Given the description of an element on the screen output the (x, y) to click on. 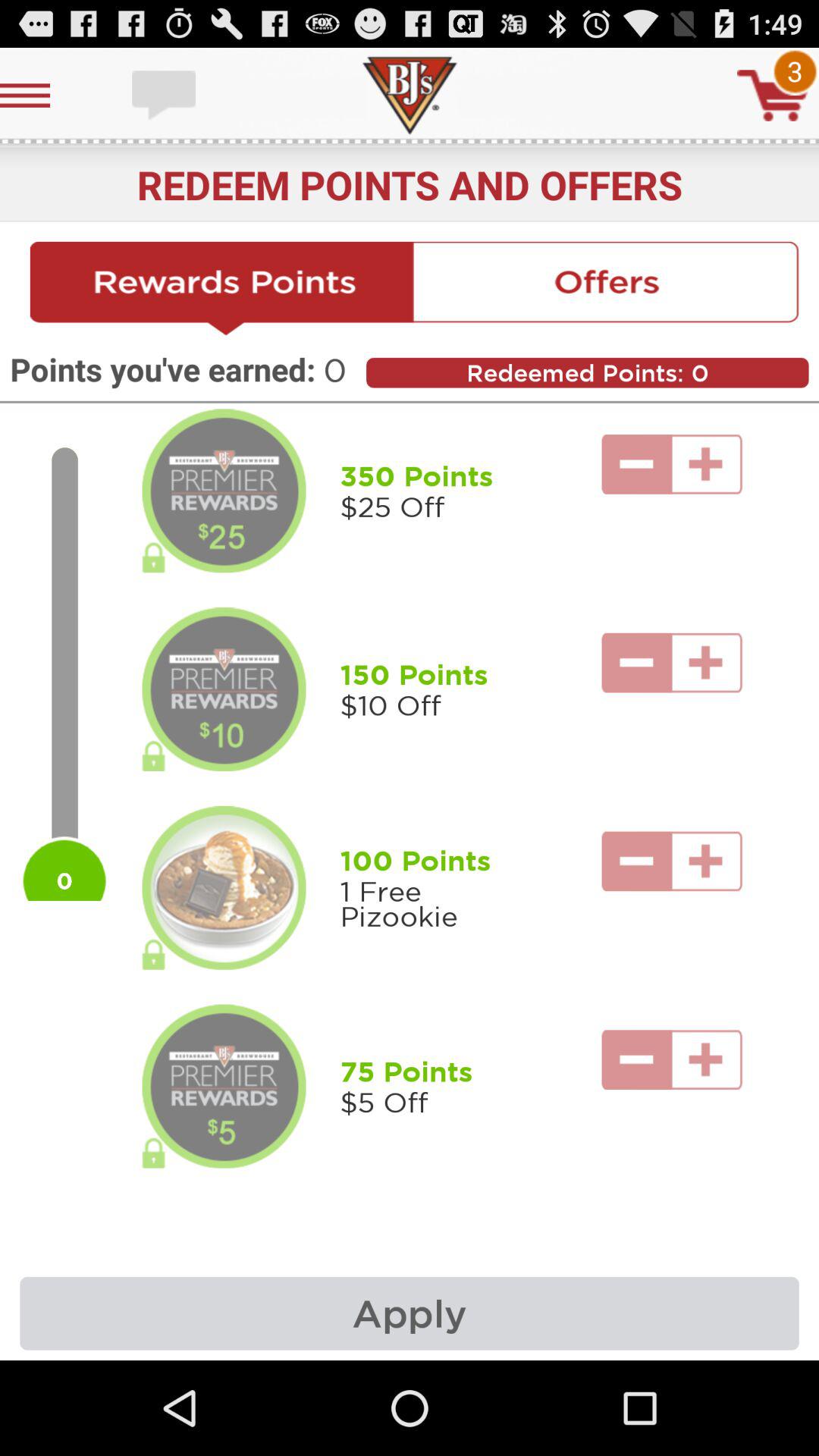
symbol page (772, 95)
